Given the description of an element on the screen output the (x, y) to click on. 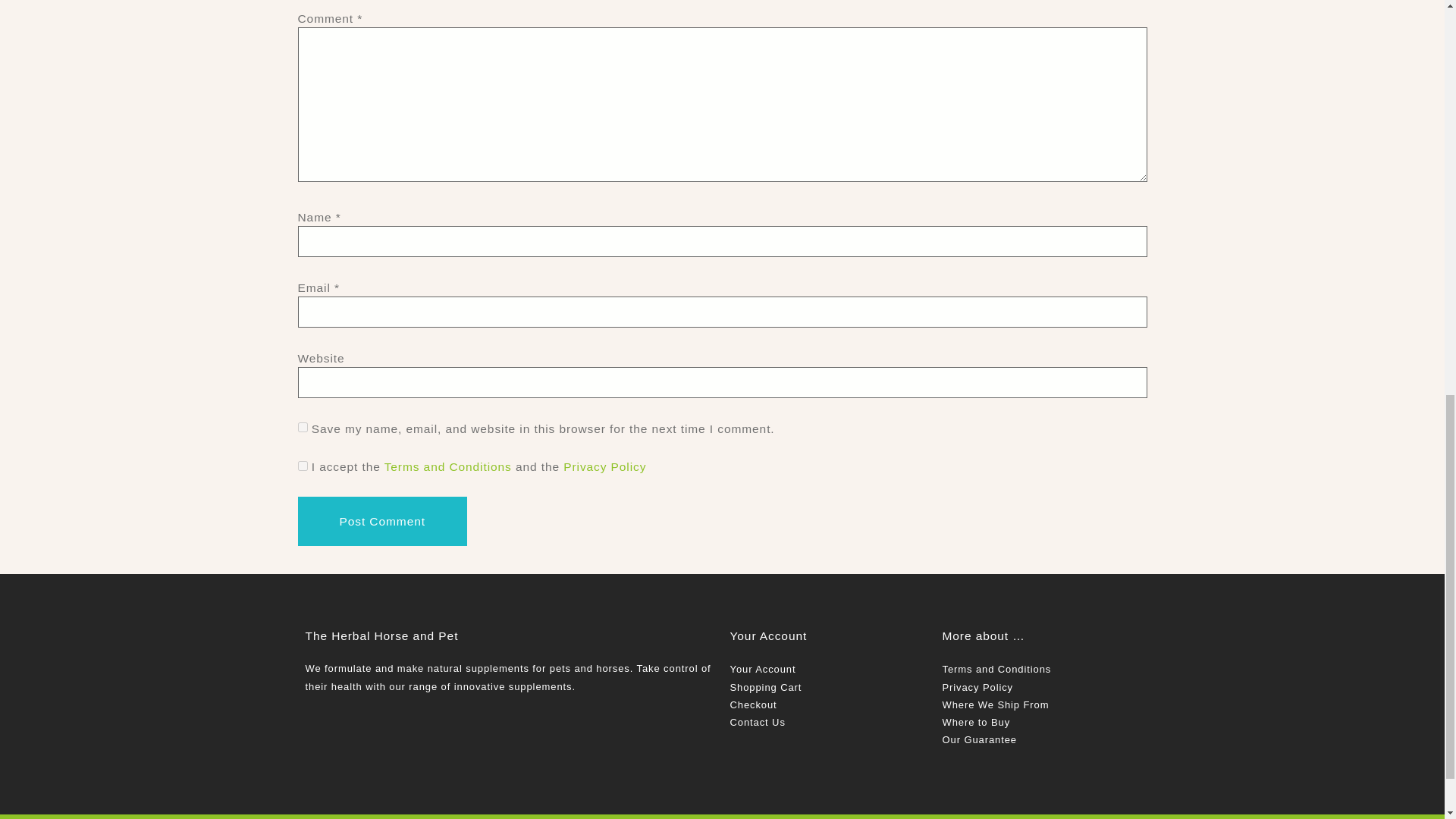
Where We Ship From (995, 704)
yes (302, 426)
Checkout (752, 704)
Post Comment (381, 521)
Our Guarantee (979, 739)
Terms and Conditions (448, 466)
Where to Buy (976, 722)
Privacy Policy (604, 466)
Terms and Conditions (996, 668)
Privacy Policy (977, 686)
1 (302, 465)
Shopping Cart (765, 686)
Contact Us (756, 722)
Post Comment (381, 521)
Your Account (761, 668)
